Given the description of an element on the screen output the (x, y) to click on. 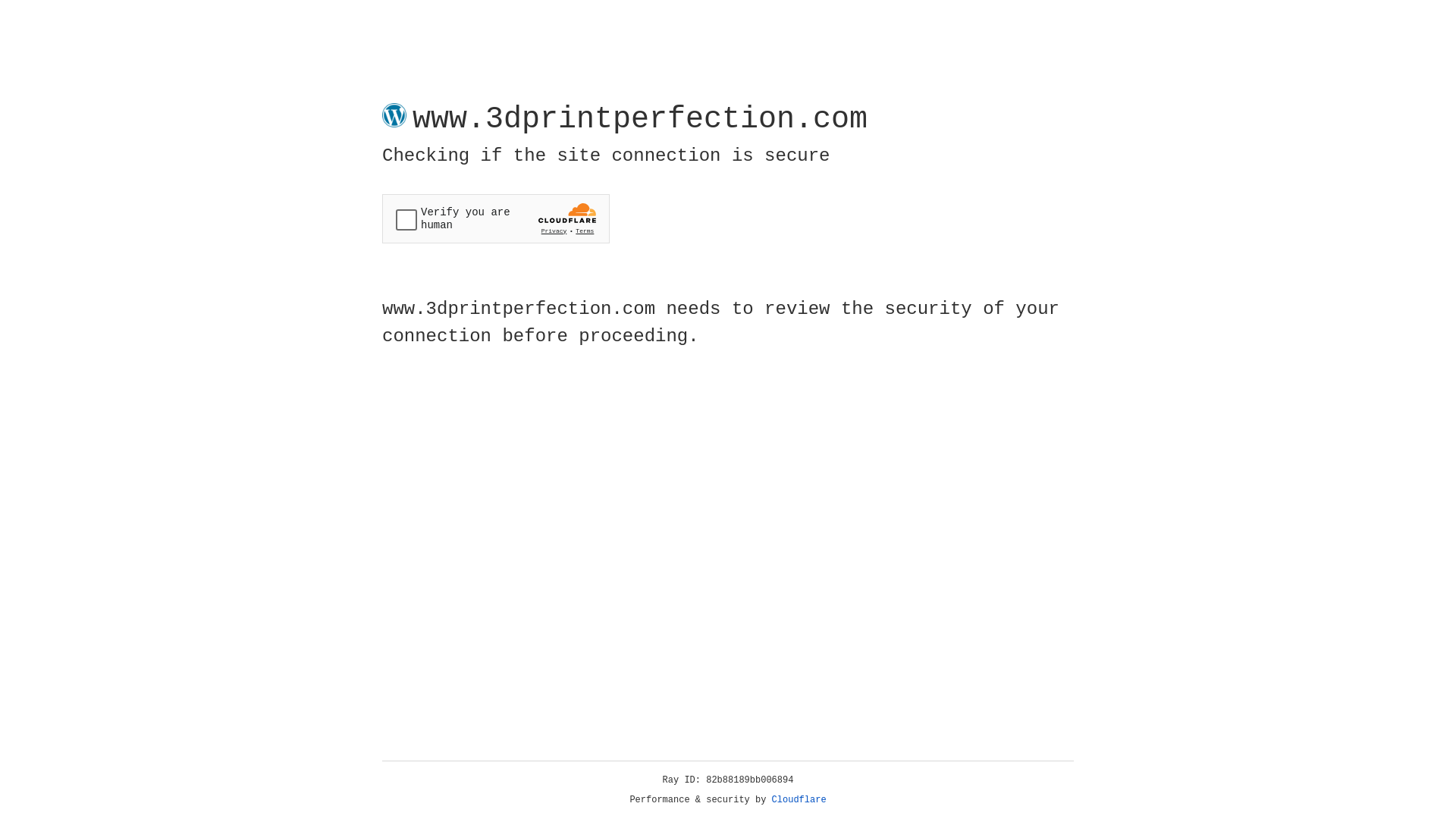
Widget containing a Cloudflare security challenge Element type: hover (495, 218)
Cloudflare Element type: text (798, 799)
